Given the description of an element on the screen output the (x, y) to click on. 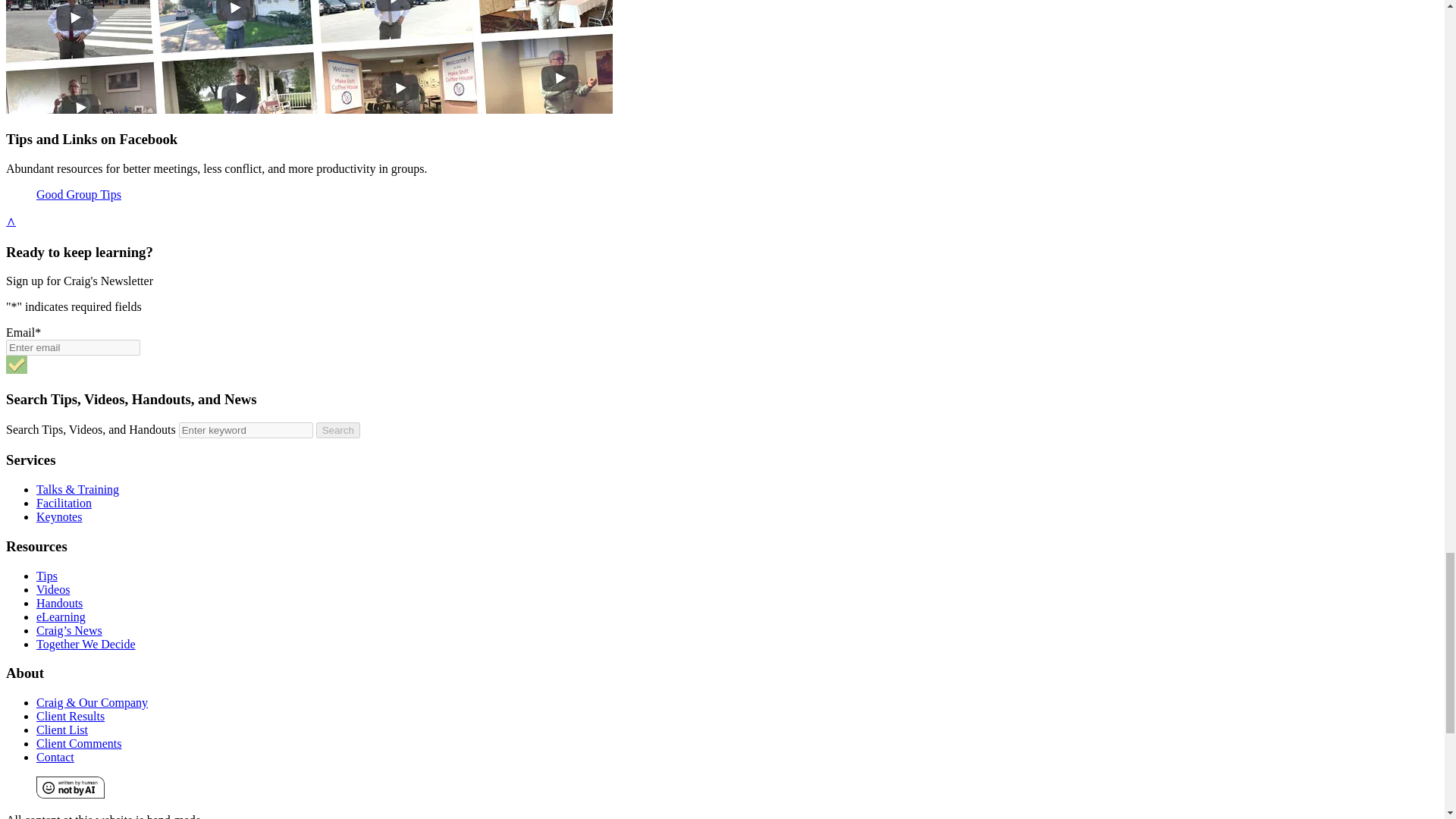
Good Group Tips (78, 194)
Search (337, 430)
Craig's Videos (308, 56)
Search (337, 430)
Search (337, 430)
